Given the description of an element on the screen output the (x, y) to click on. 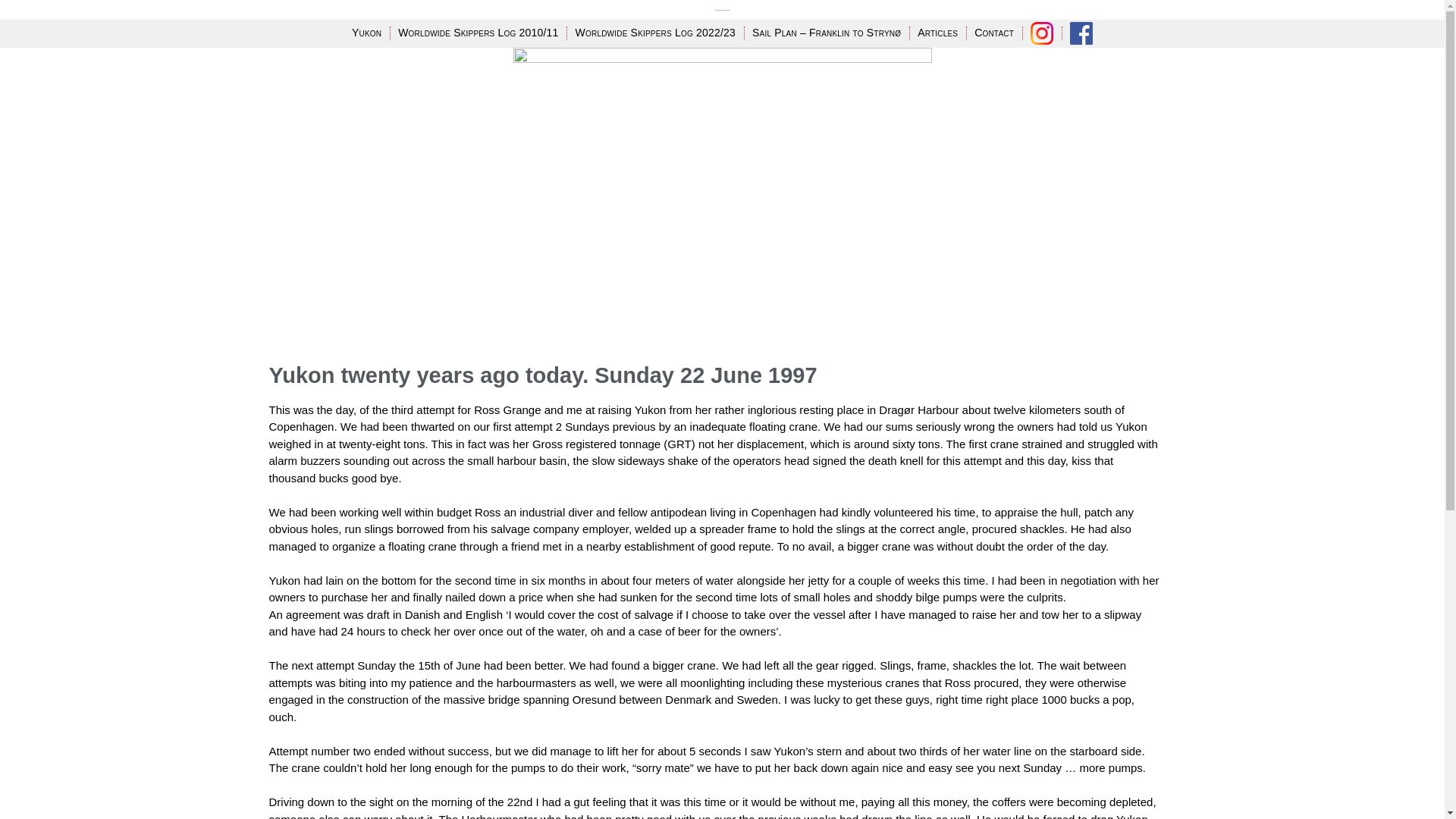
Contact (994, 33)
Follow Yukon on Facebook (1080, 33)
Articles (937, 33)
Yukon (366, 33)
Follow Yukon on Instagram (1041, 33)
